Given the description of an element on the screen output the (x, y) to click on. 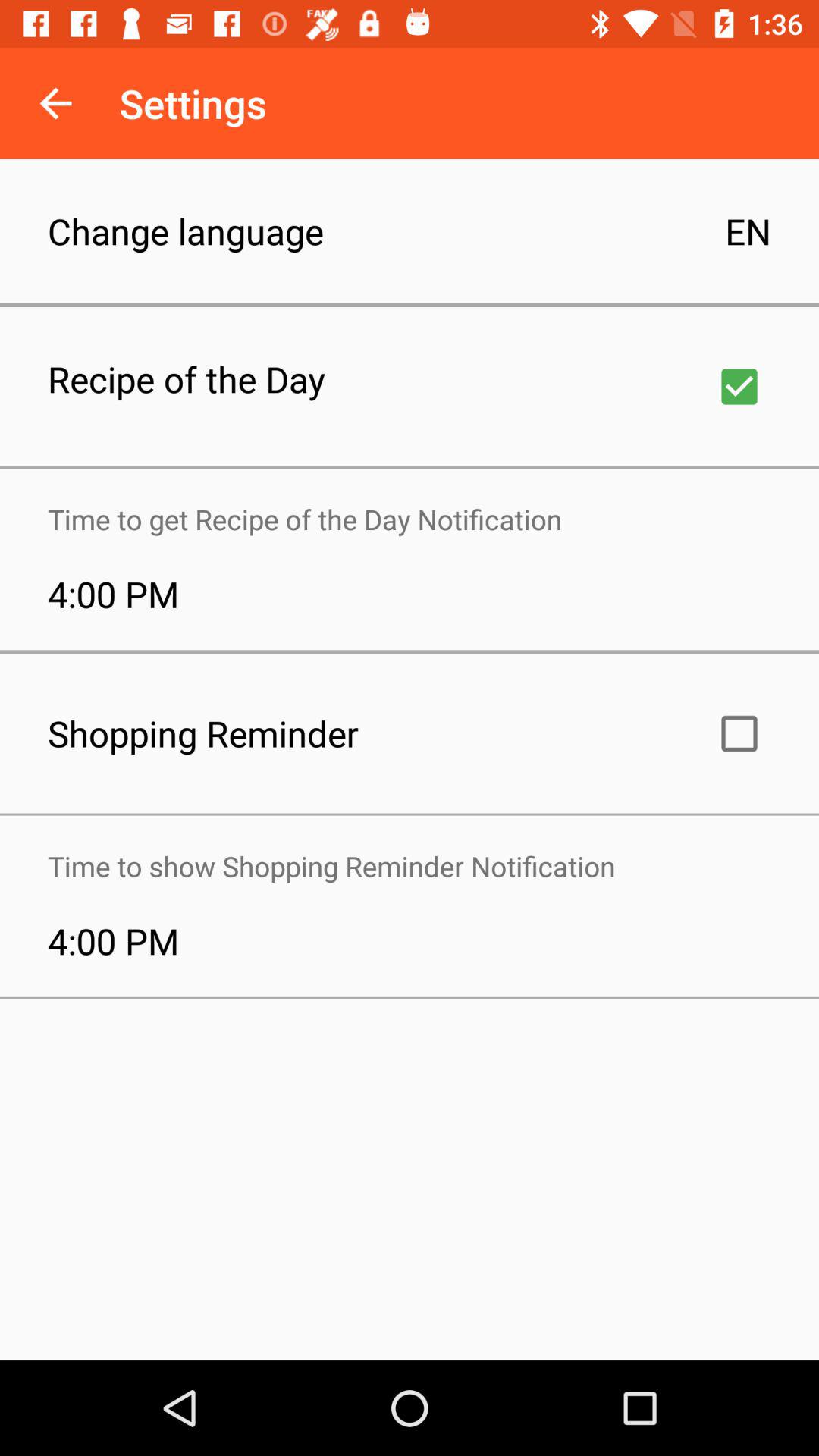
toggle shopping reminder (739, 733)
